Given the description of an element on the screen output the (x, y) to click on. 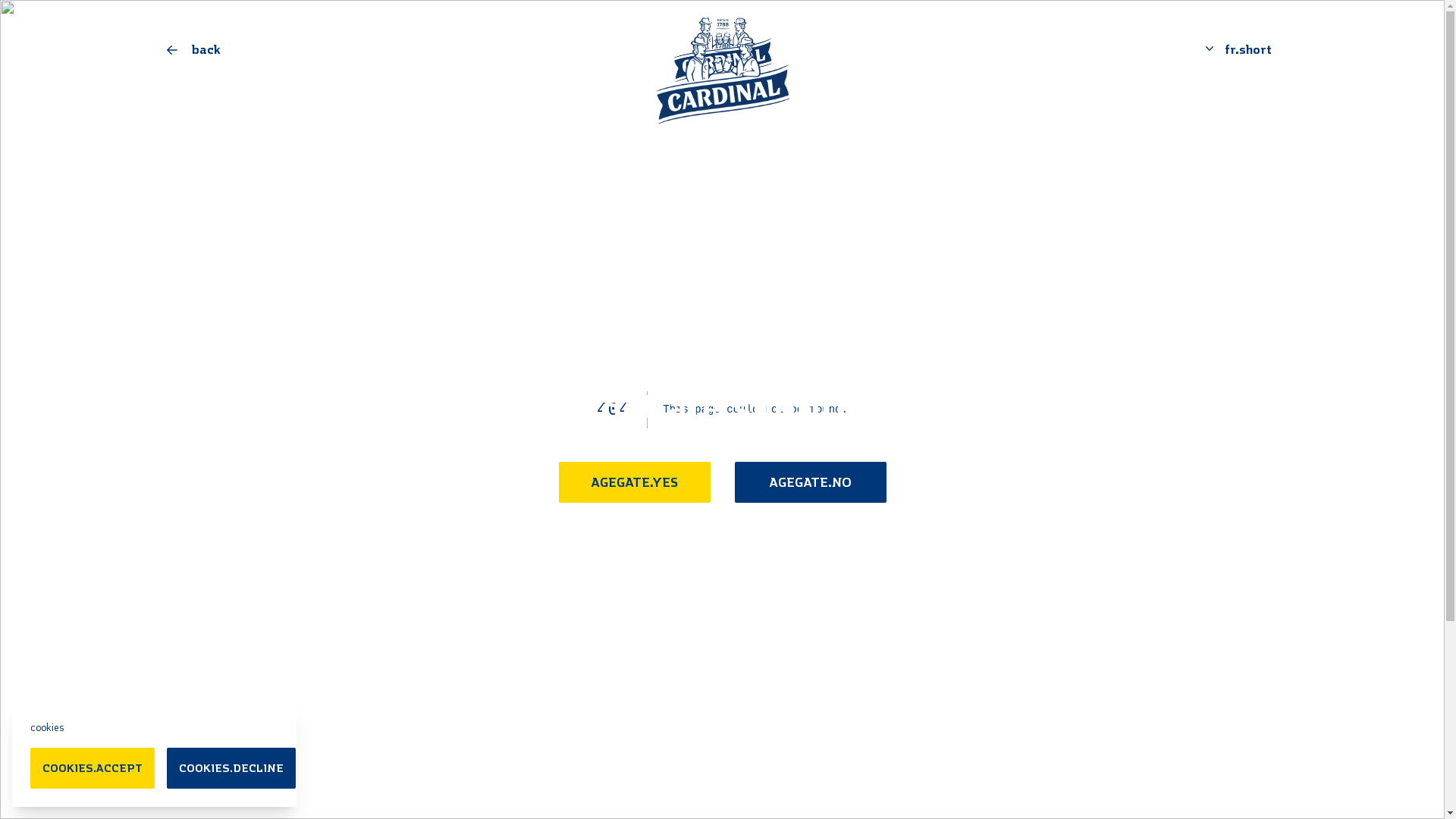
AGEGATE.NO Element type: text (809, 481)
back Element type: text (345, 49)
COOKIES.DECLINE Element type: text (230, 767)
COOKIES.ACCEPT Element type: text (92, 767)
fr.short Element type: text (1236, 49)
AGEGATE.YES Element type: text (633, 481)
